Given the description of an element on the screen output the (x, y) to click on. 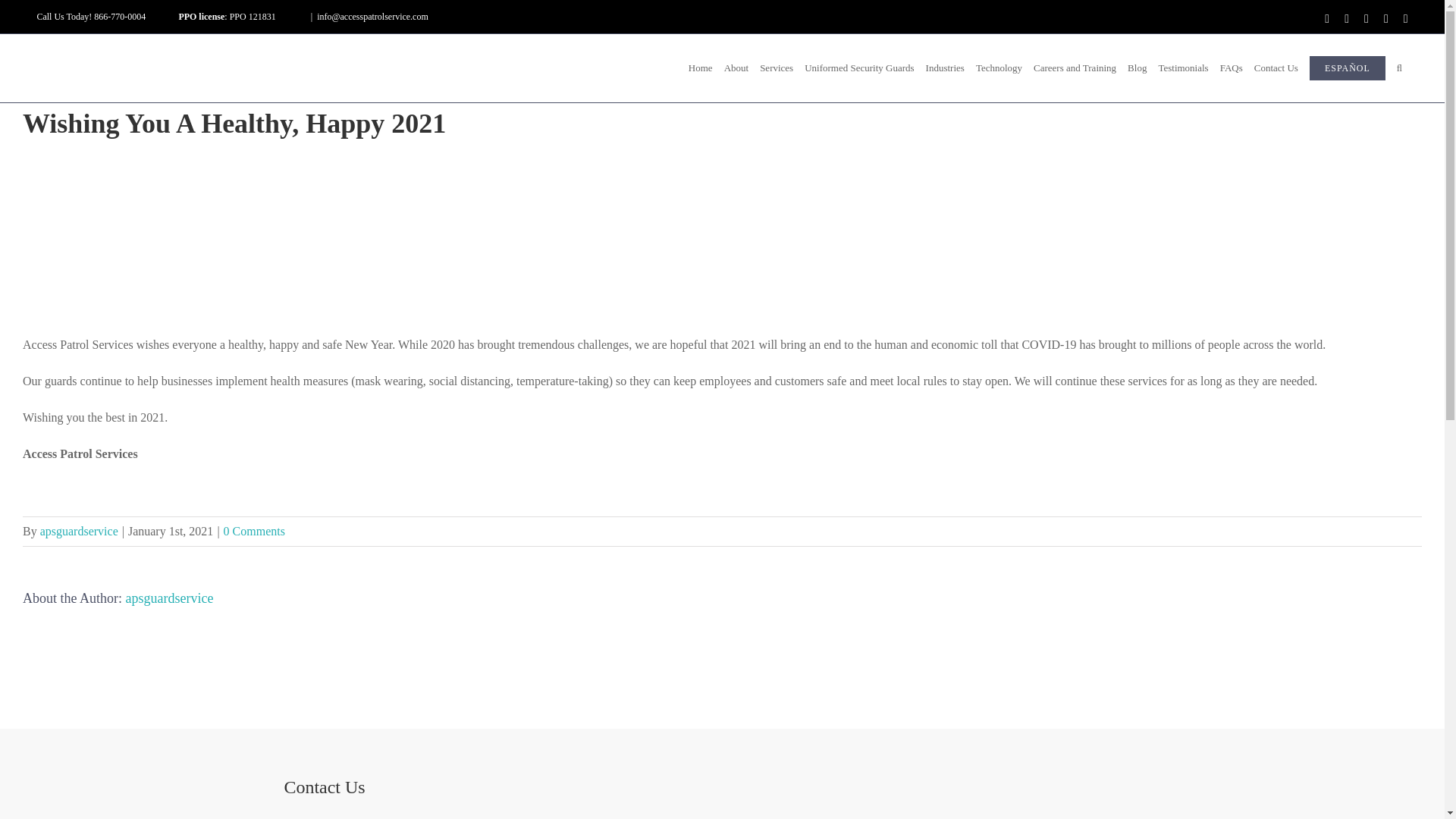
Posts by apsguardservice (169, 598)
Posts by apsguardservice (78, 530)
Call Us Today! 866-770-0004 (90, 16)
Careers and Training (1074, 68)
Technology (998, 68)
Contact Us (1275, 68)
Uniformed Security Guards (859, 68)
Testimonials (1183, 68)
Industries (944, 68)
